Given the description of an element on the screen output the (x, y) to click on. 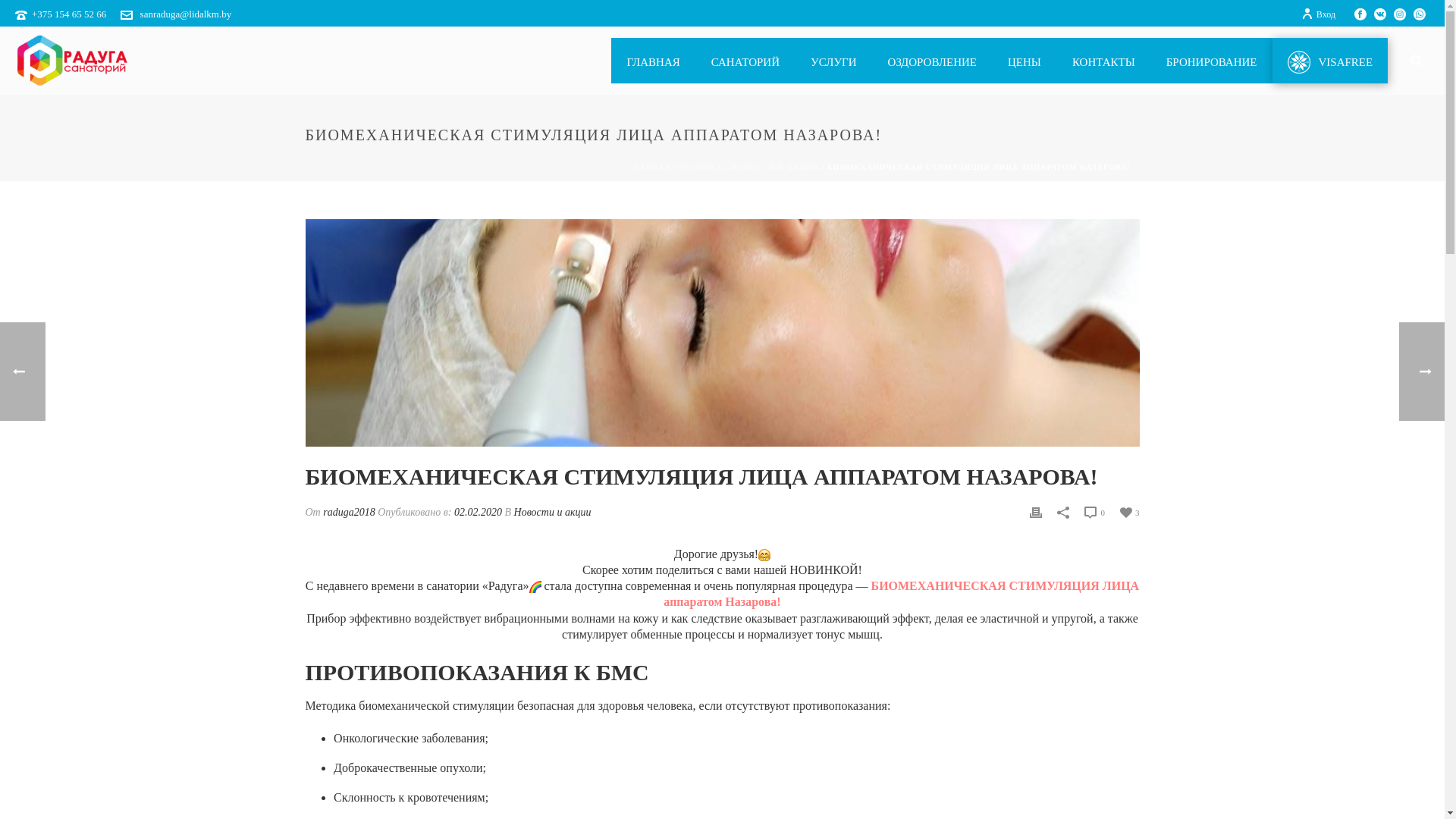
raduga2018 Element type: text (348, 511)
3 Element type: text (1129, 511)
0 Element type: text (1094, 512)
sanraduga@lidalkm.by Element type: text (186, 13)
02.02.2020 Element type: text (478, 511)
  Element type: text (721, 332)
+375 154 65 52 66 Element type: text (68, 13)
VISAFREE Element type: text (1329, 60)
